Given the description of an element on the screen output the (x, y) to click on. 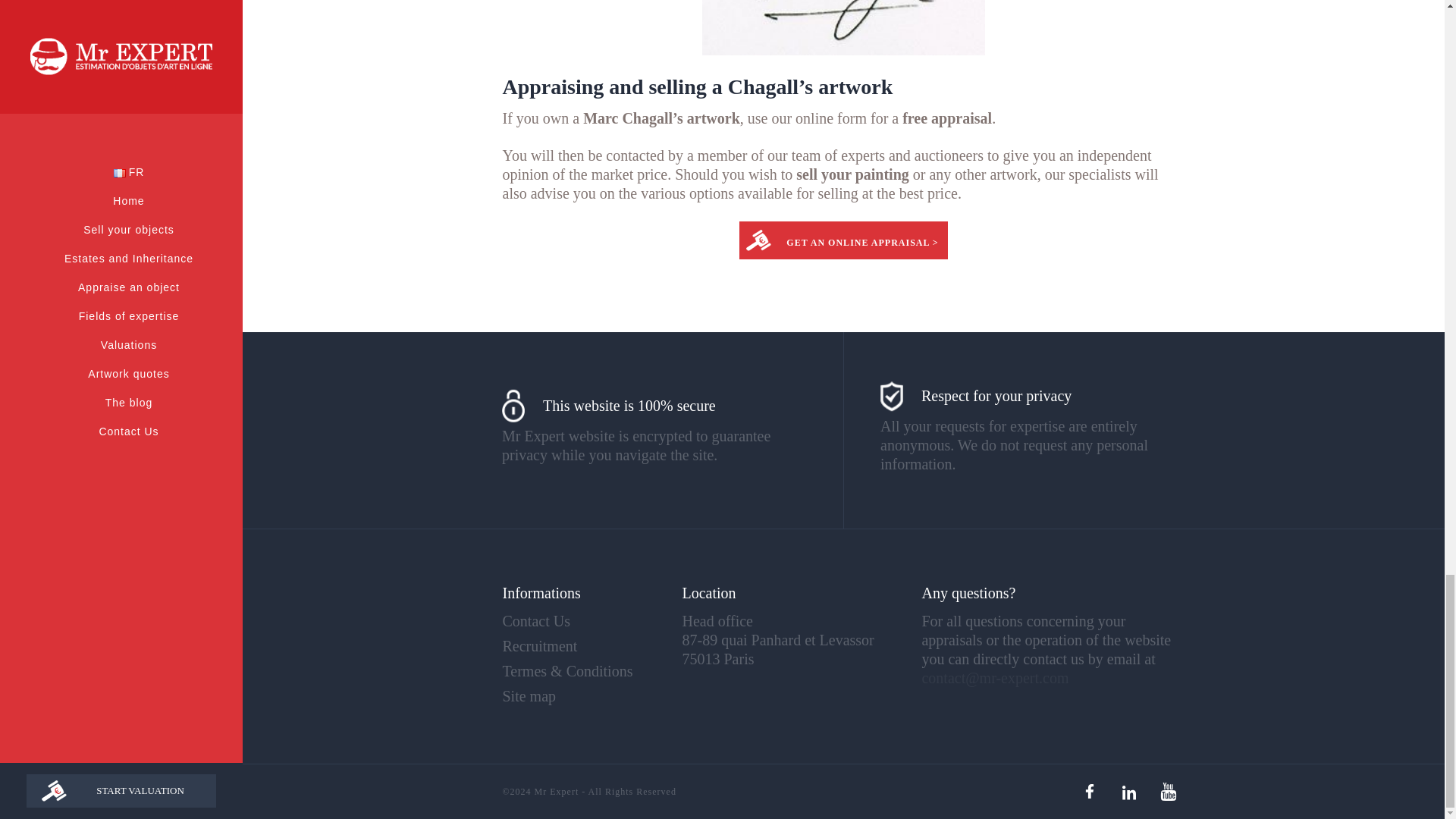
Contact Us (535, 620)
Visiter notre page Youtube (1168, 791)
Visiter notre page LinkedIn (1128, 791)
Site map (529, 695)
sell your painting (852, 174)
Visiter notre page Facebook (1088, 791)
Recruitment (539, 646)
